Given the description of an element on the screen output the (x, y) to click on. 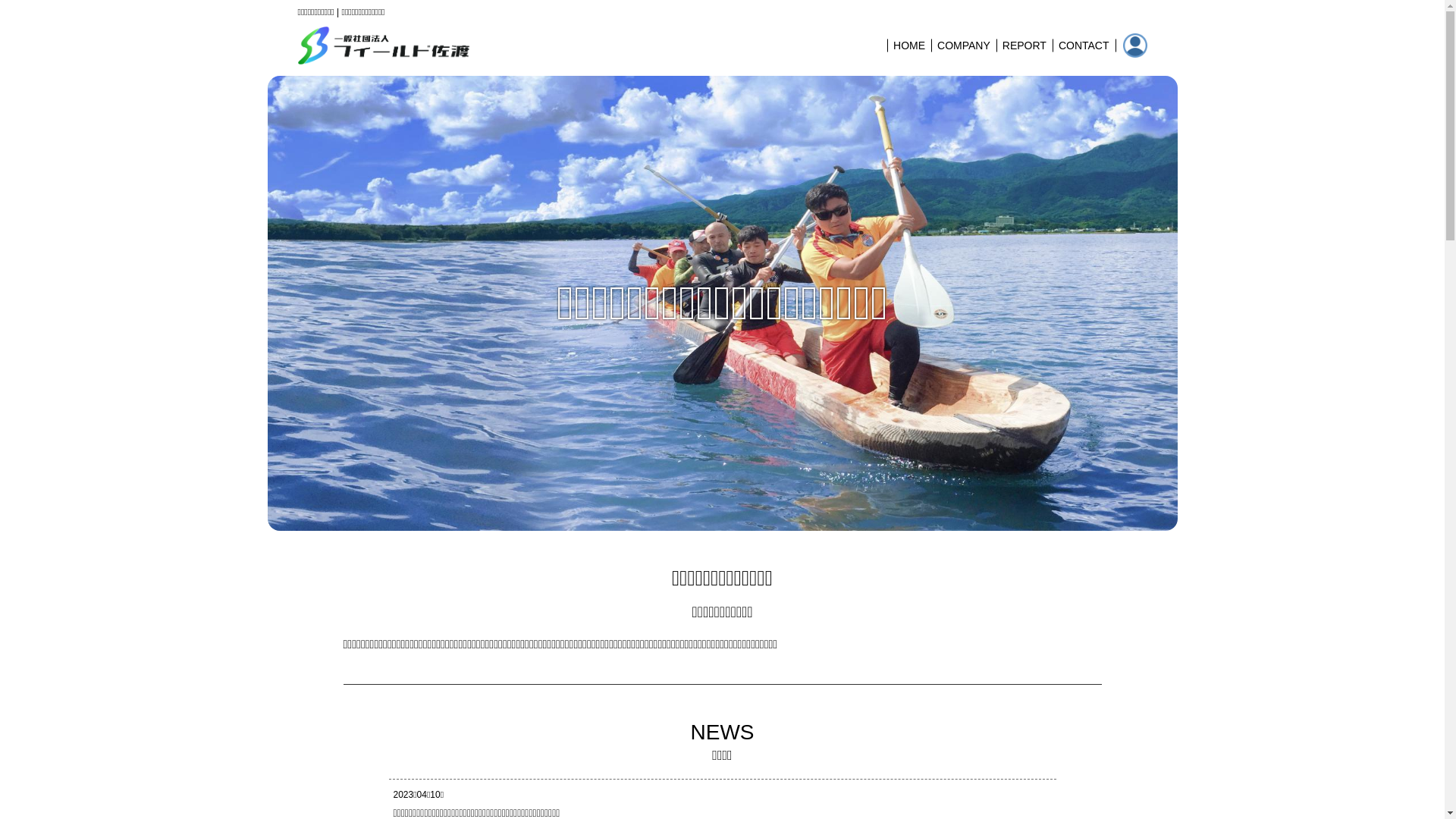
REPORT Element type: text (1024, 45)
COMPANY Element type: text (963, 45)
CONTACT Element type: text (1083, 45)
HOME Element type: text (909, 45)
